Given the description of an element on the screen output the (x, y) to click on. 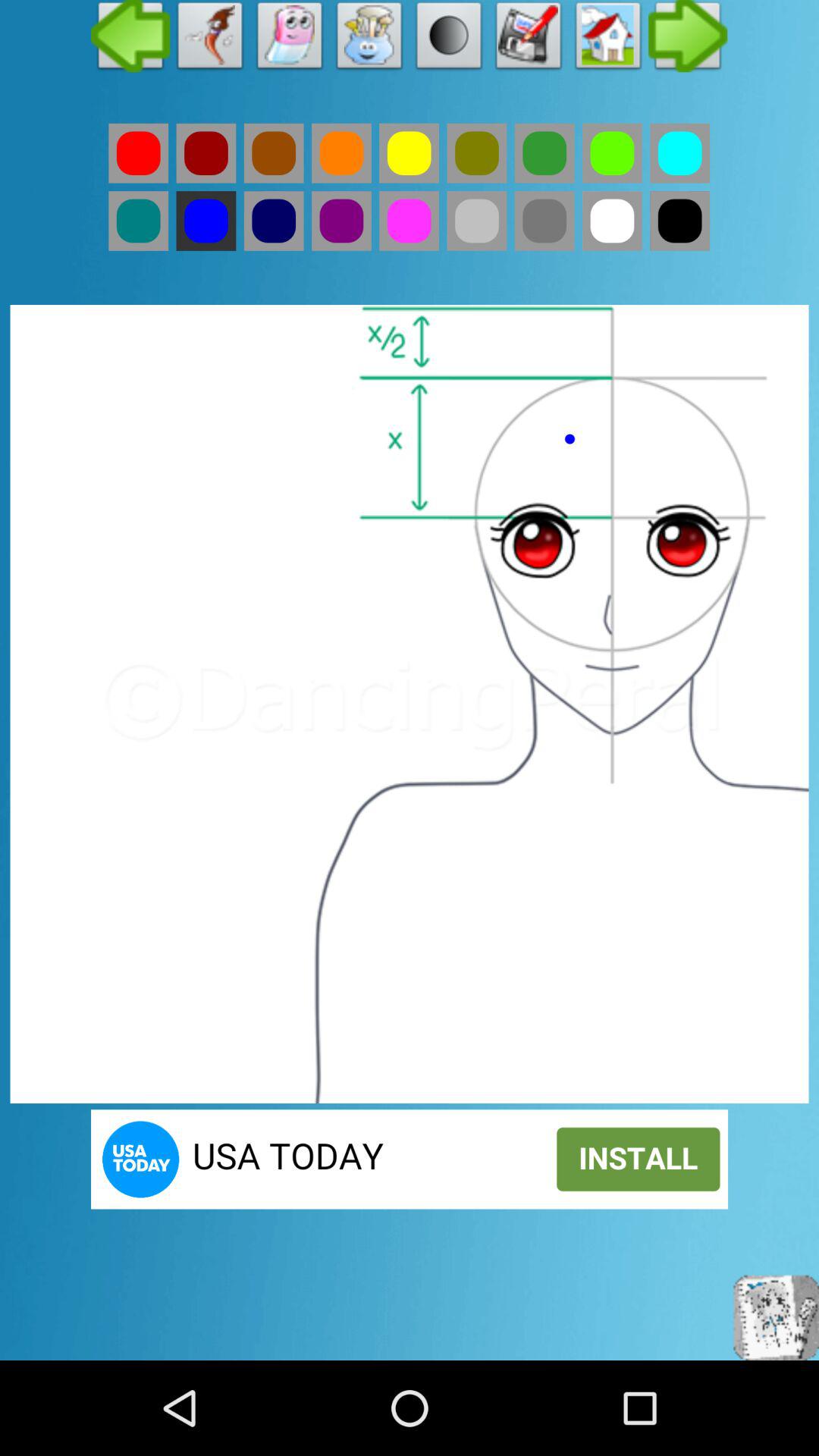
save (528, 39)
